Given the description of an element on the screen output the (x, y) to click on. 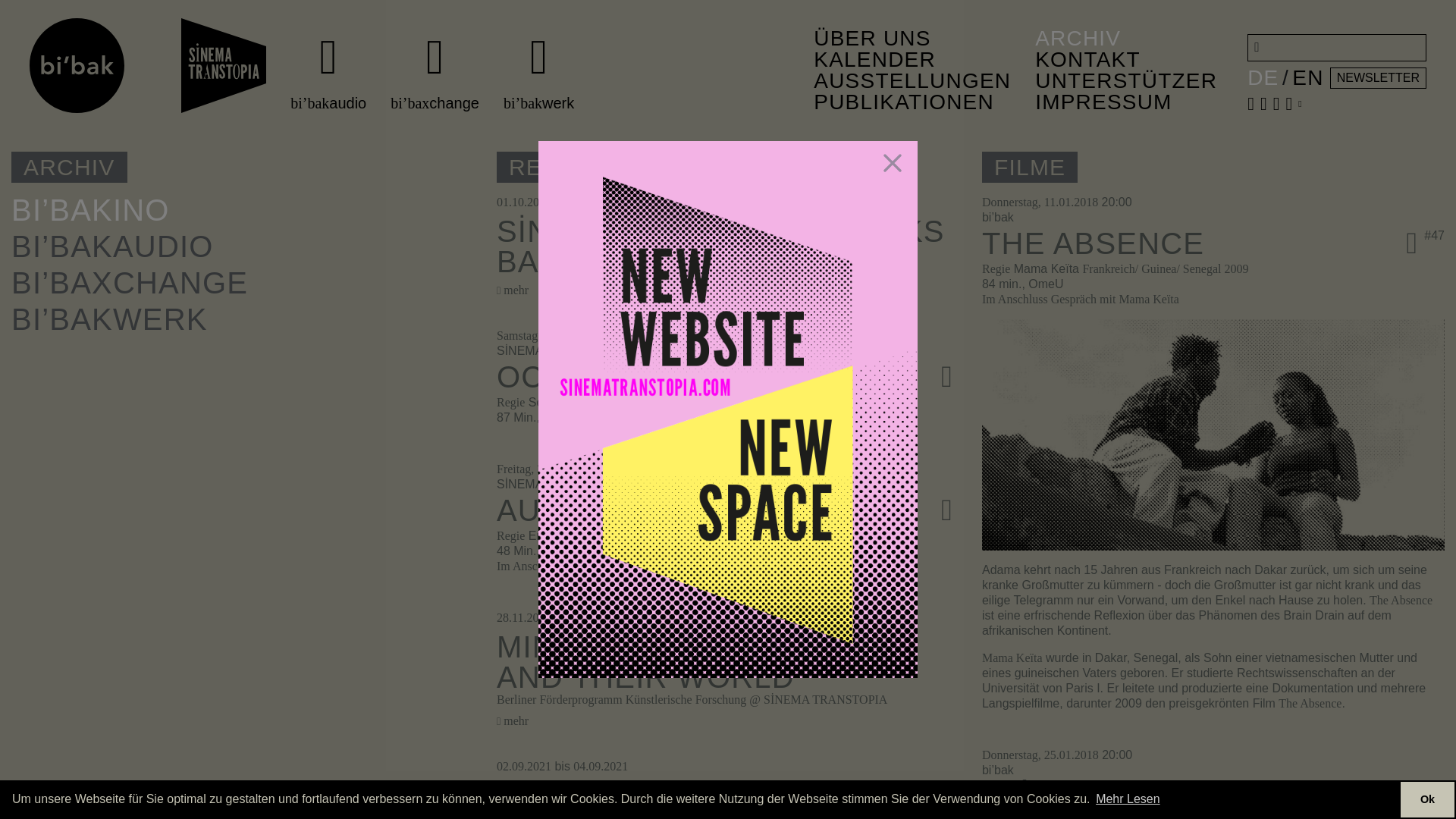
KONTAKT (1126, 59)
KALENDER (911, 59)
Newsletter (1378, 77)
ARCHIV (1126, 38)
REVOLUTION PRAKTIZIEREN (719, 795)
Mehr Lesen (1127, 798)
AUSSTELLUNGEN (911, 80)
Audience Emancipated (695, 510)
DE (1262, 77)
PUBLIKATIONEN (911, 102)
